Given the description of an element on the screen output the (x, y) to click on. 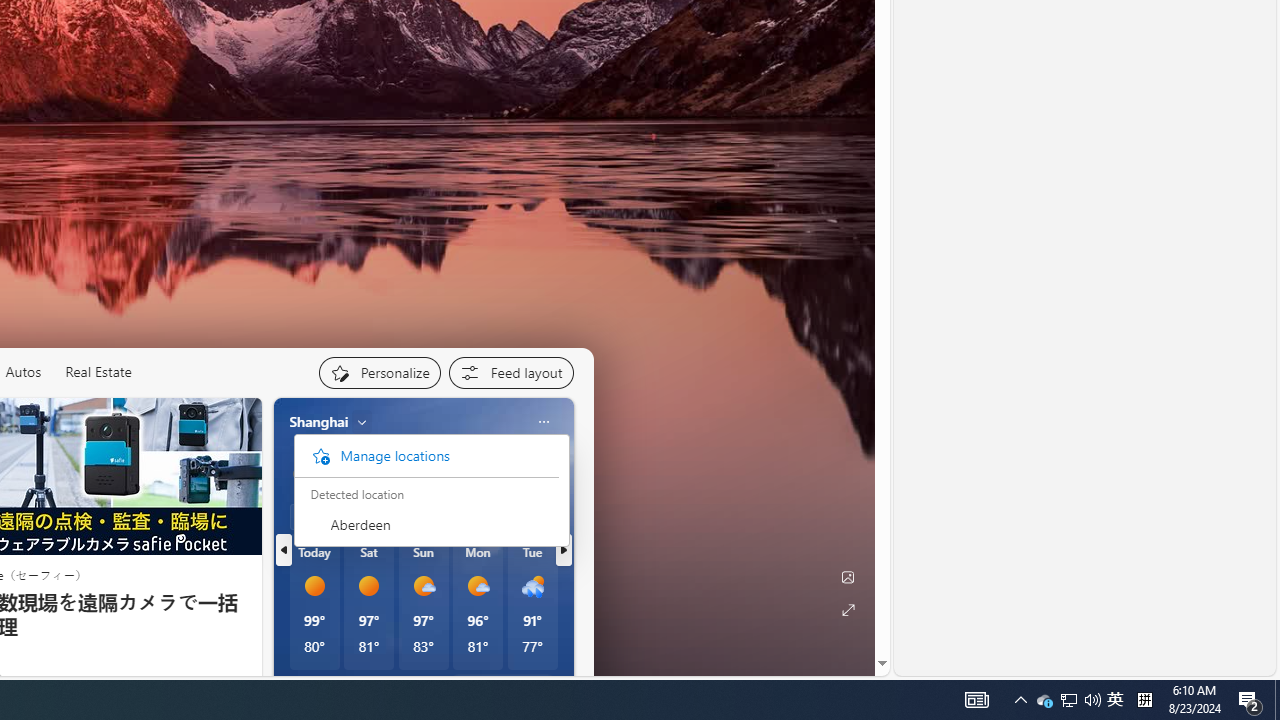
Real Estate (98, 371)
Edit Background (847, 577)
Class: footer-menu (426, 455)
Shanghai (319, 422)
Hourly (319, 516)
previous (283, 549)
Expect rain showers next Tuesday (551, 474)
Ad Choice (238, 681)
Manage locations (425, 455)
next (563, 549)
Daily (378, 516)
Aberdeen (425, 524)
